Given the description of an element on the screen output the (x, y) to click on. 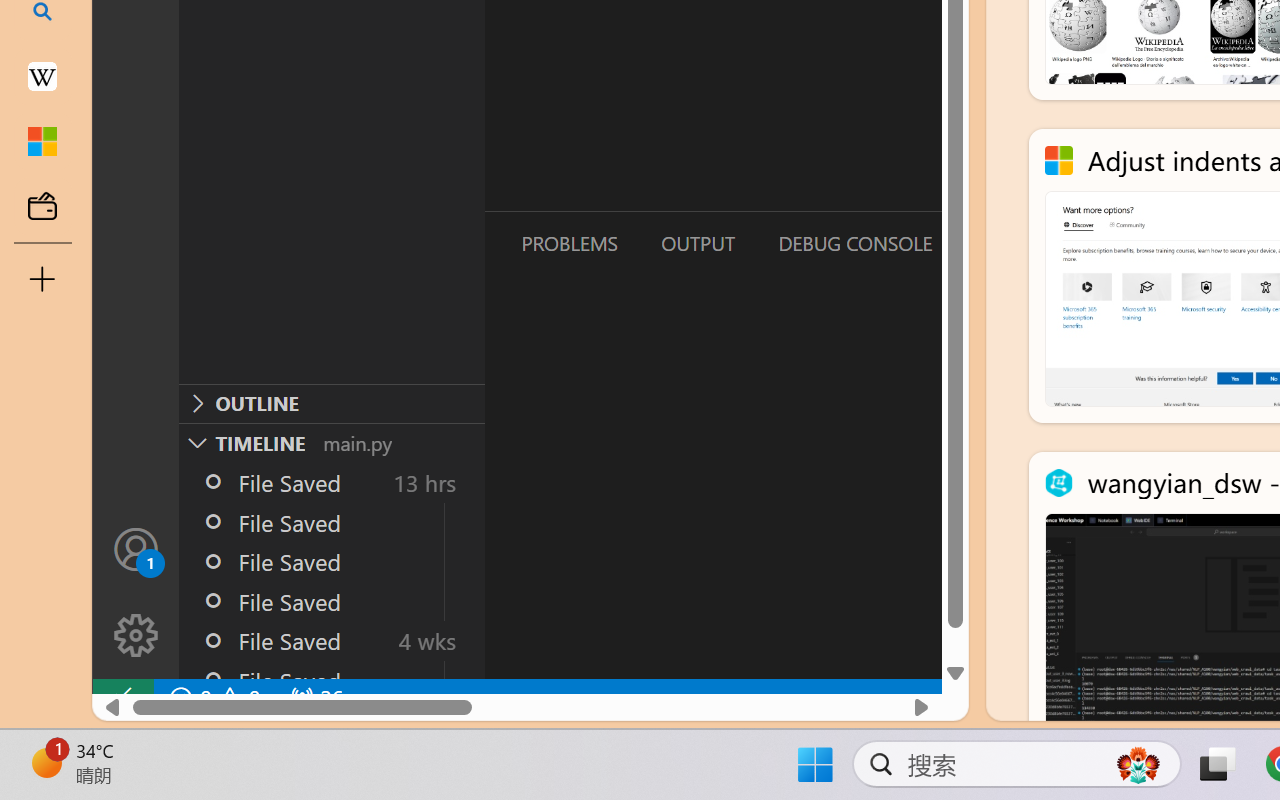
Manage (135, 591)
Output (Ctrl+Shift+U) (696, 243)
Timeline Section (331, 442)
remote (122, 698)
Terminal (Ctrl+`) (1021, 243)
Debug Console (Ctrl+Shift+Y) (854, 243)
Manage (135, 635)
